Given the description of an element on the screen output the (x, y) to click on. 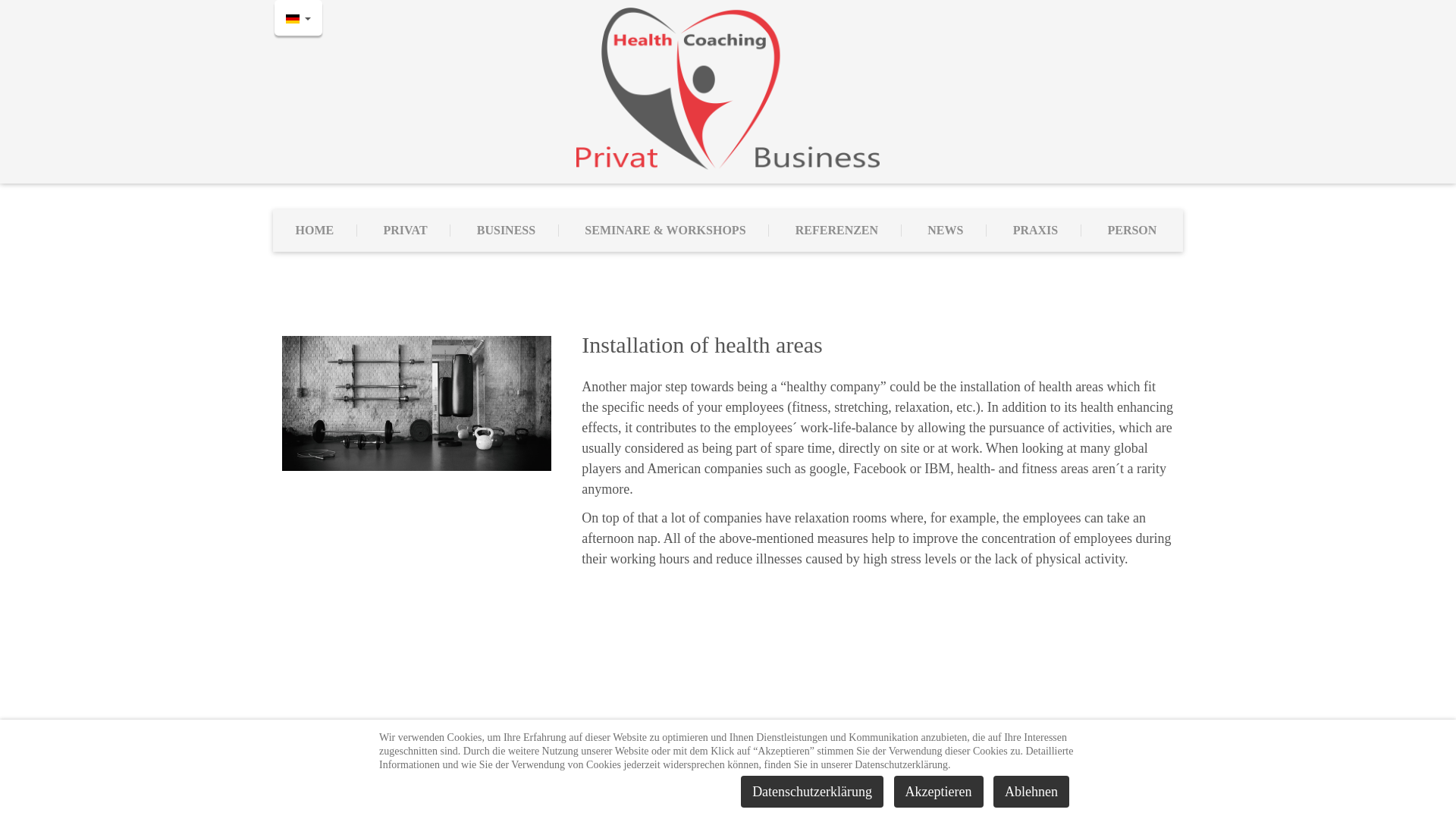
PERSON (1131, 230)
Deutsch (292, 18)
it-in-time (879, 789)
REFERENZEN (837, 230)
Ablehnen (1030, 791)
BUSINESS (506, 230)
Home (727, 88)
Sitemap (792, 771)
Impressum  (671, 771)
NEWS (946, 230)
PRAXIS (1035, 230)
Akzeptieren (938, 791)
PRIVAT (405, 230)
Datenschutz (736, 771)
HOME (314, 230)
